Given the description of an element on the screen output the (x, y) to click on. 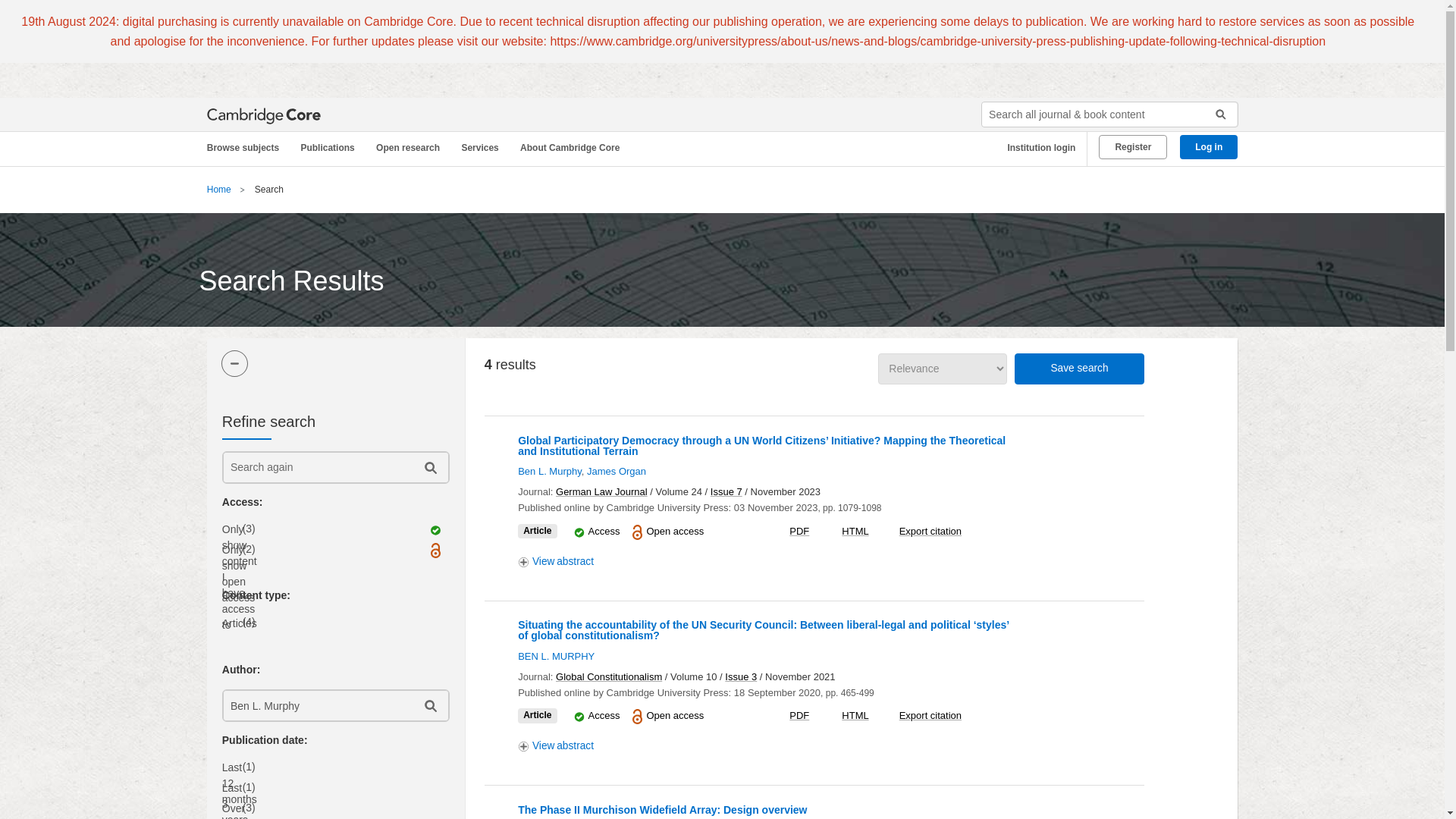
Open research (410, 147)
Services (482, 147)
Submit search (1214, 114)
You have access to this product (604, 715)
Ben L. Murphy (316, 705)
Browse subjects (250, 147)
You have access to this product (579, 716)
About Cambridge Core (572, 147)
Log in (1208, 146)
Submit refine search (429, 467)
